Given the description of an element on the screen output the (x, y) to click on. 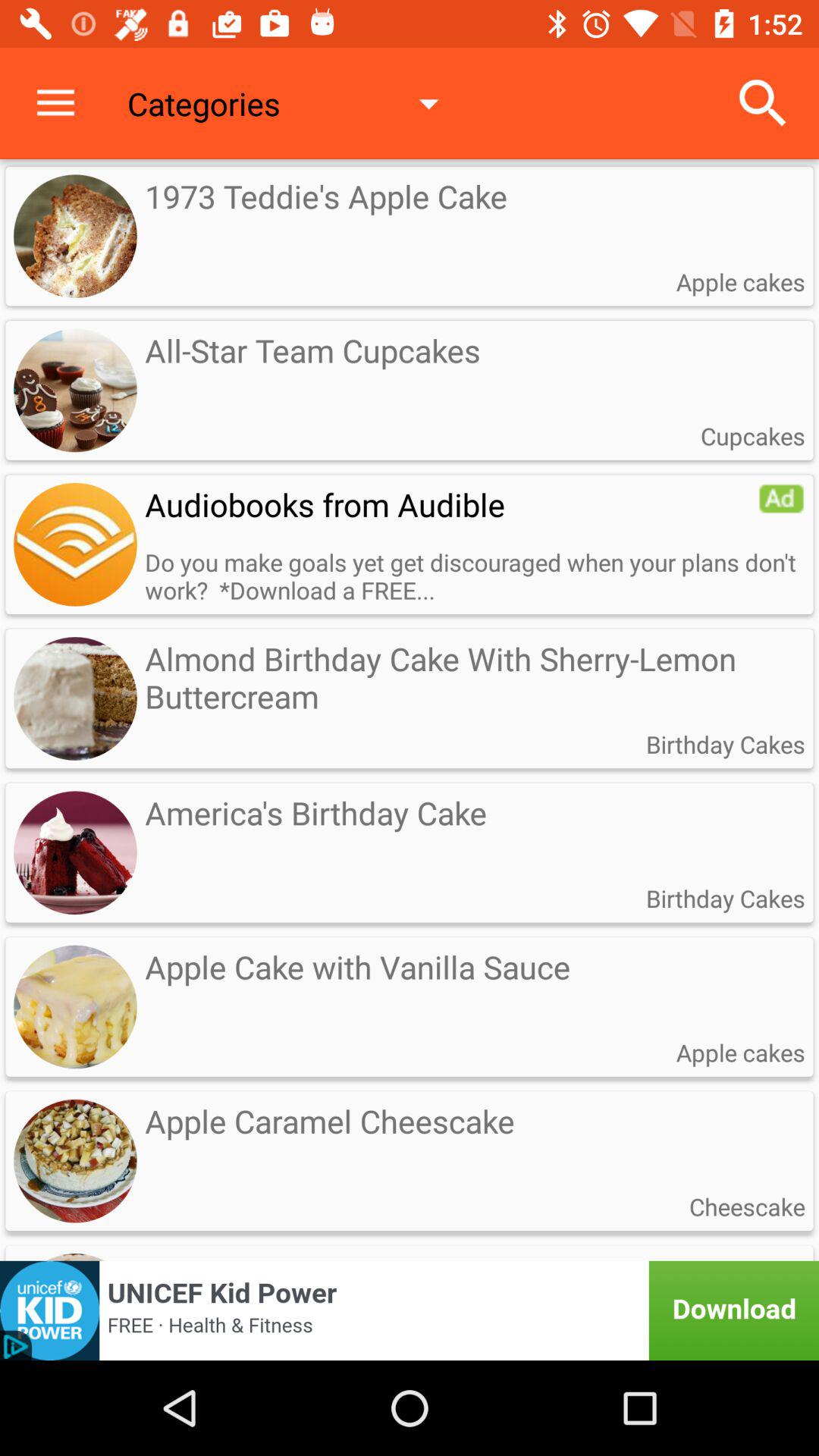
tap the item below the cupcakes item (781, 498)
